Given the description of an element on the screen output the (x, y) to click on. 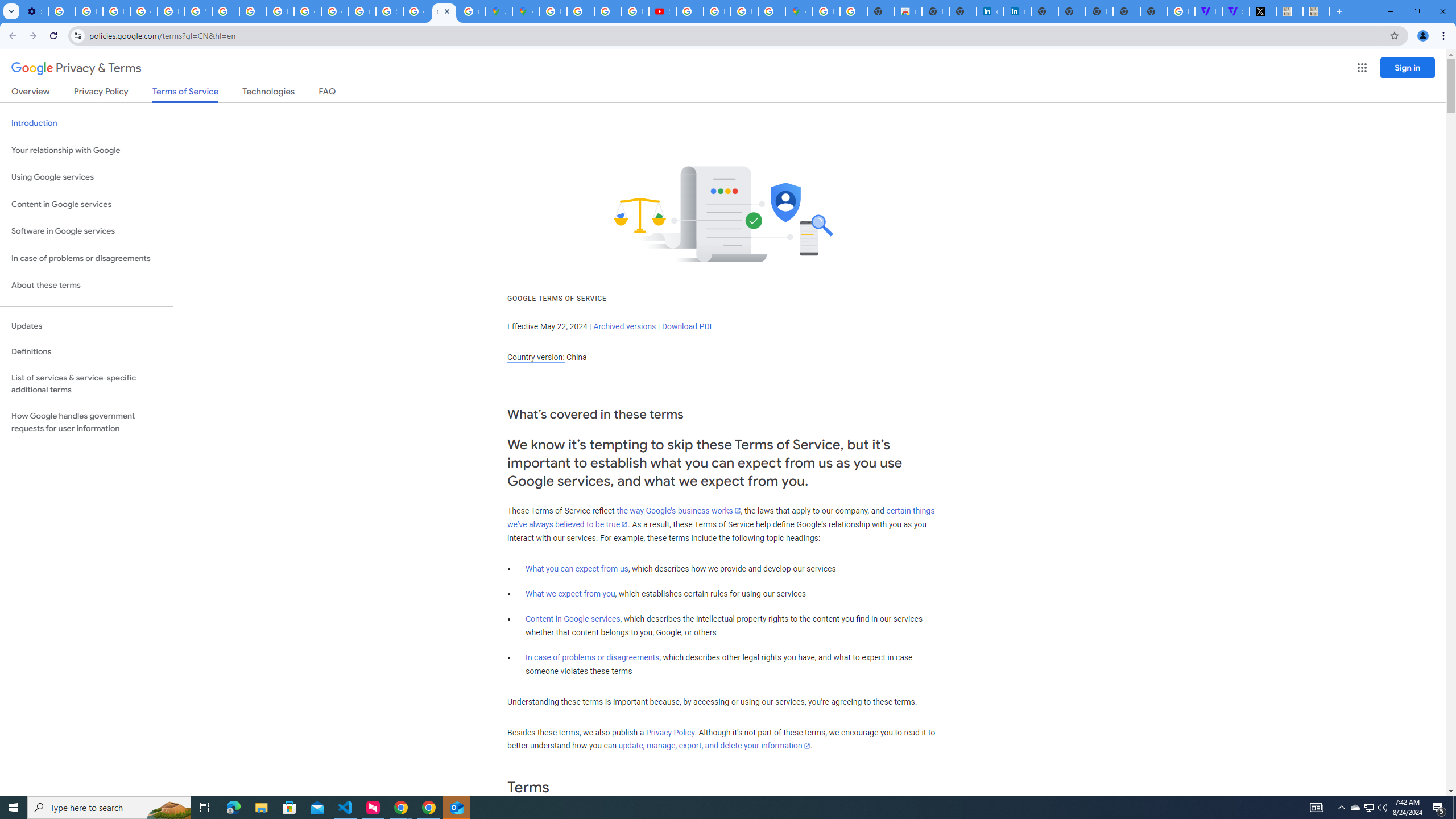
Cookie Policy | LinkedIn (1017, 11)
update, manage, export, and delete your information (714, 746)
What we expect from you (570, 593)
Privacy Help Center - Policies Help (253, 11)
